Given the description of an element on the screen output the (x, y) to click on. 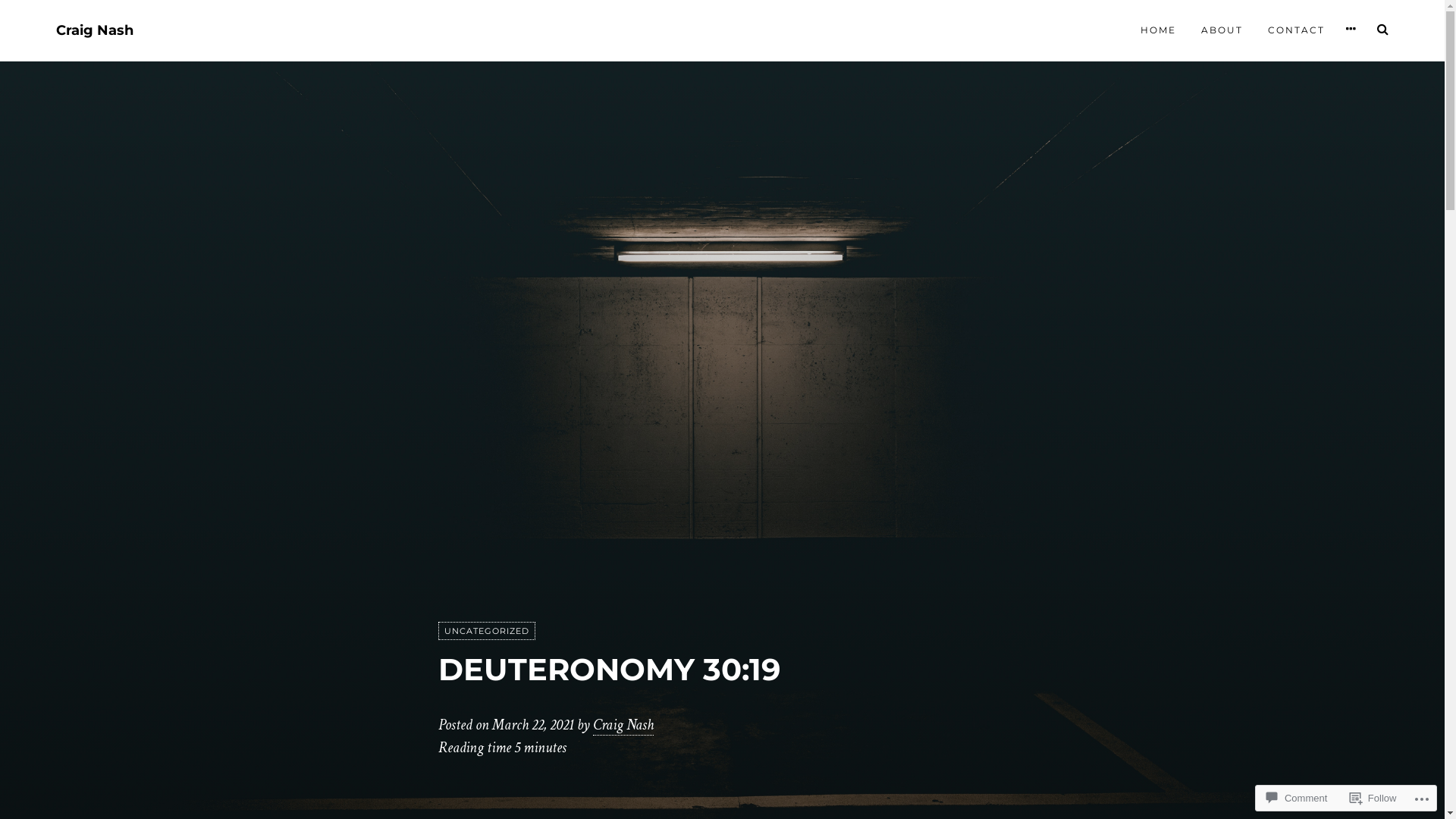
ABOUT Element type: text (1221, 30)
Follow Element type: text (1372, 797)
Craig Nash Element type: text (94, 30)
CONTACT Element type: text (1296, 30)
UNCATEGORIZED Element type: text (486, 630)
HOME Element type: text (1157, 30)
Comment Element type: text (1296, 797)
Craig Nash Element type: text (623, 725)
